Given the description of an element on the screen output the (x, y) to click on. 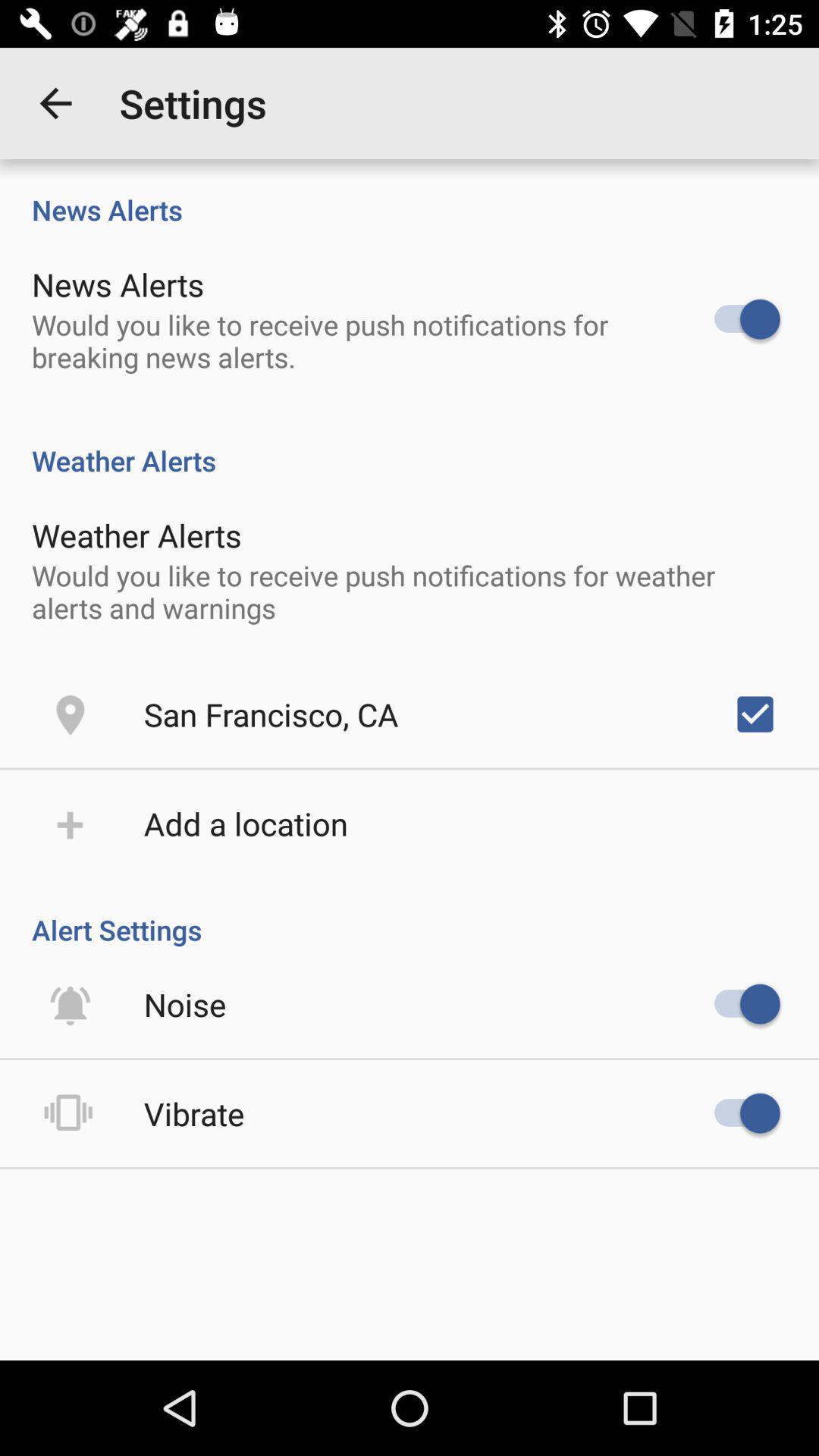
open add a location icon (245, 823)
